Given the description of an element on the screen output the (x, y) to click on. 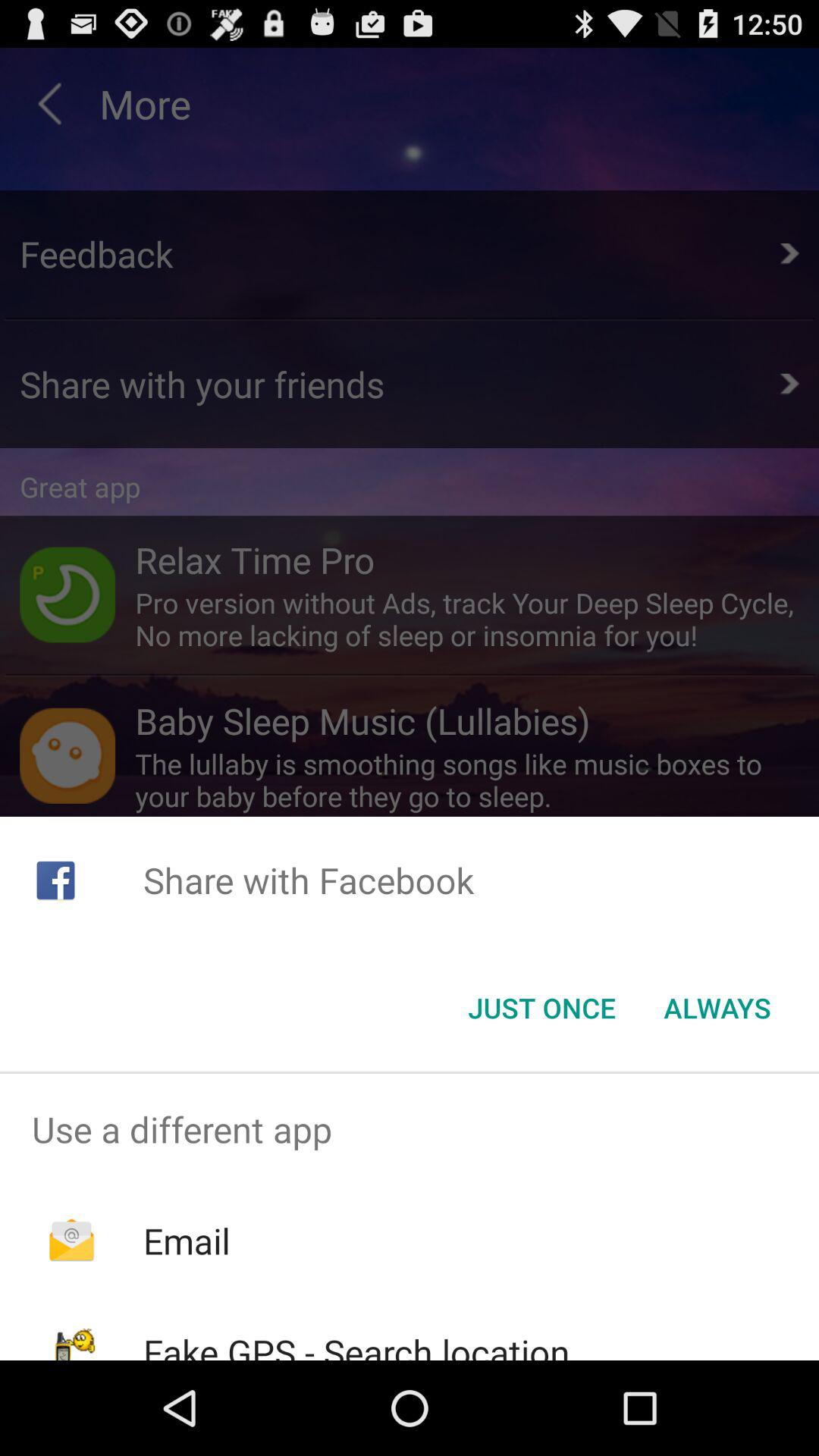
open the just once item (541, 1007)
